Given the description of an element on the screen output the (x, y) to click on. 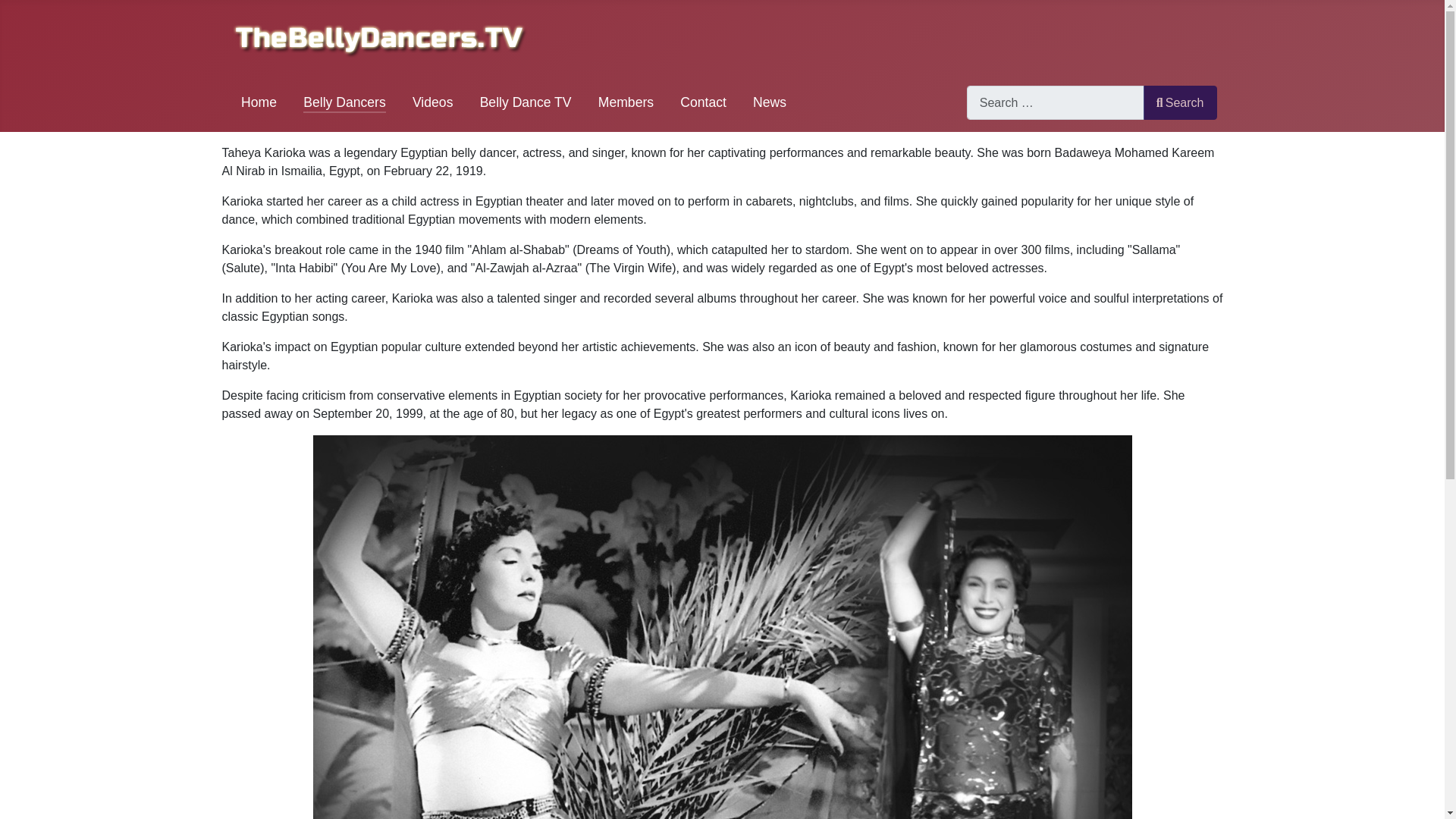
Home (258, 102)
Belly Dance TV (526, 102)
Search (1179, 102)
Videos (432, 102)
Members (625, 102)
Contact (702, 102)
News (769, 102)
Belly Dancers (343, 102)
